Given the description of an element on the screen output the (x, y) to click on. 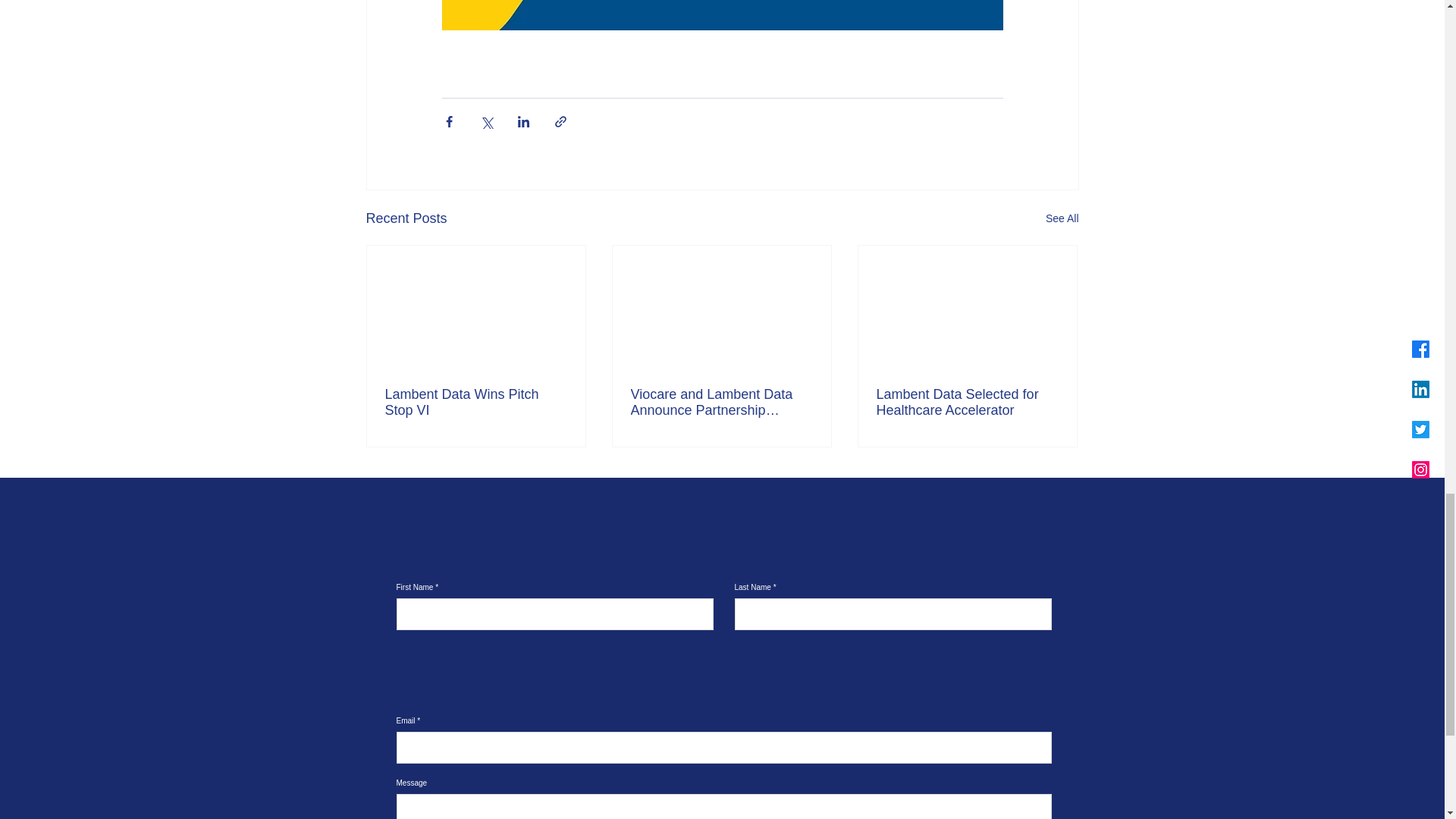
Lambent Data Wins Pitch Stop VI (476, 402)
See All (1061, 219)
Lambent Data Selected for Healthcare Accelerator (967, 402)
